Given the description of an element on the screen output the (x, y) to click on. 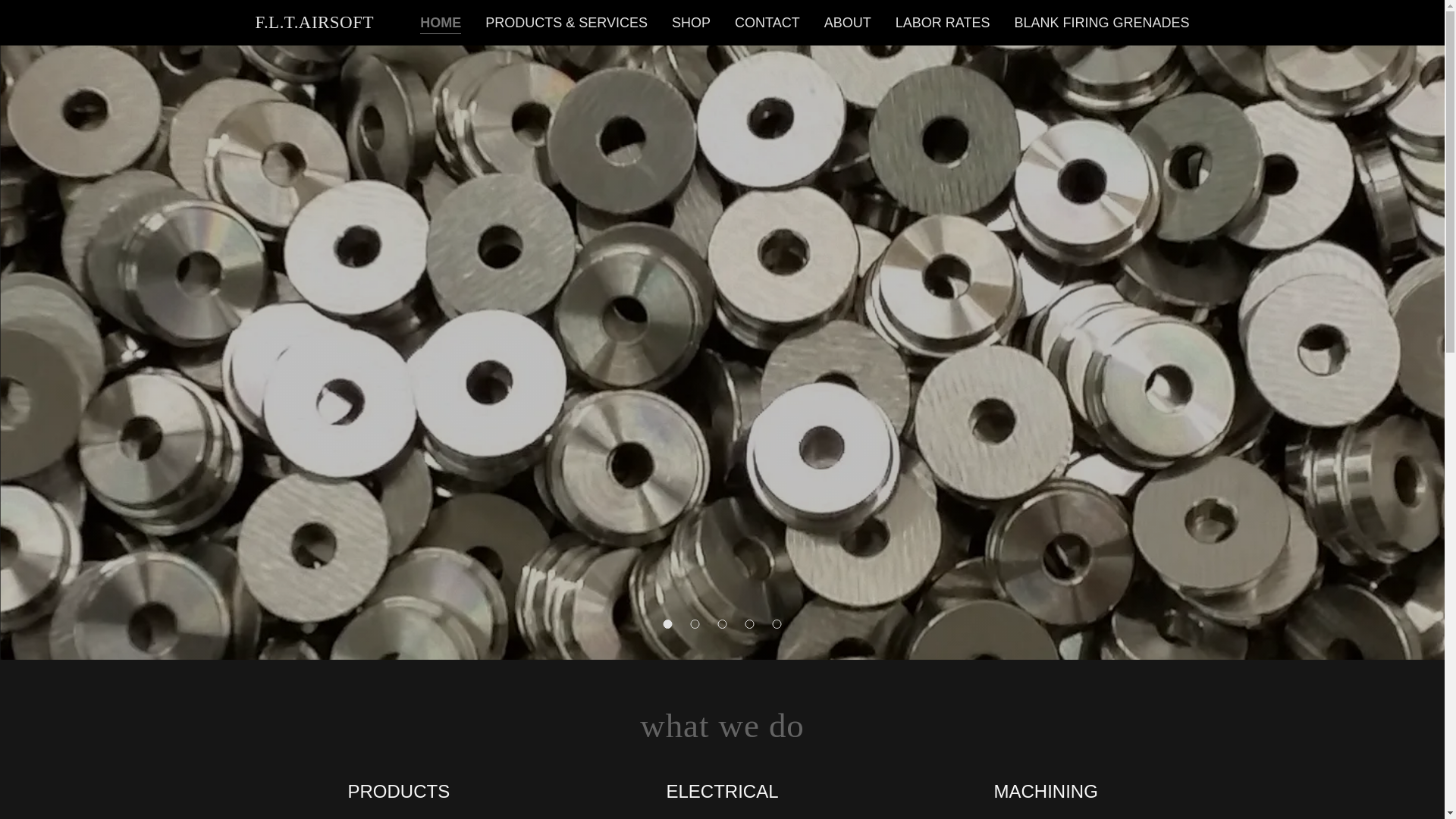
F.L.T.AIRSOFT (313, 23)
LABOR RATES (942, 22)
HOME (440, 23)
F.L.T.AIRSOFT (313, 23)
SHOP (690, 22)
CONTACT (767, 22)
BLANK FIRING GRENADES (1101, 22)
ABOUT (847, 22)
